Given the description of an element on the screen output the (x, y) to click on. 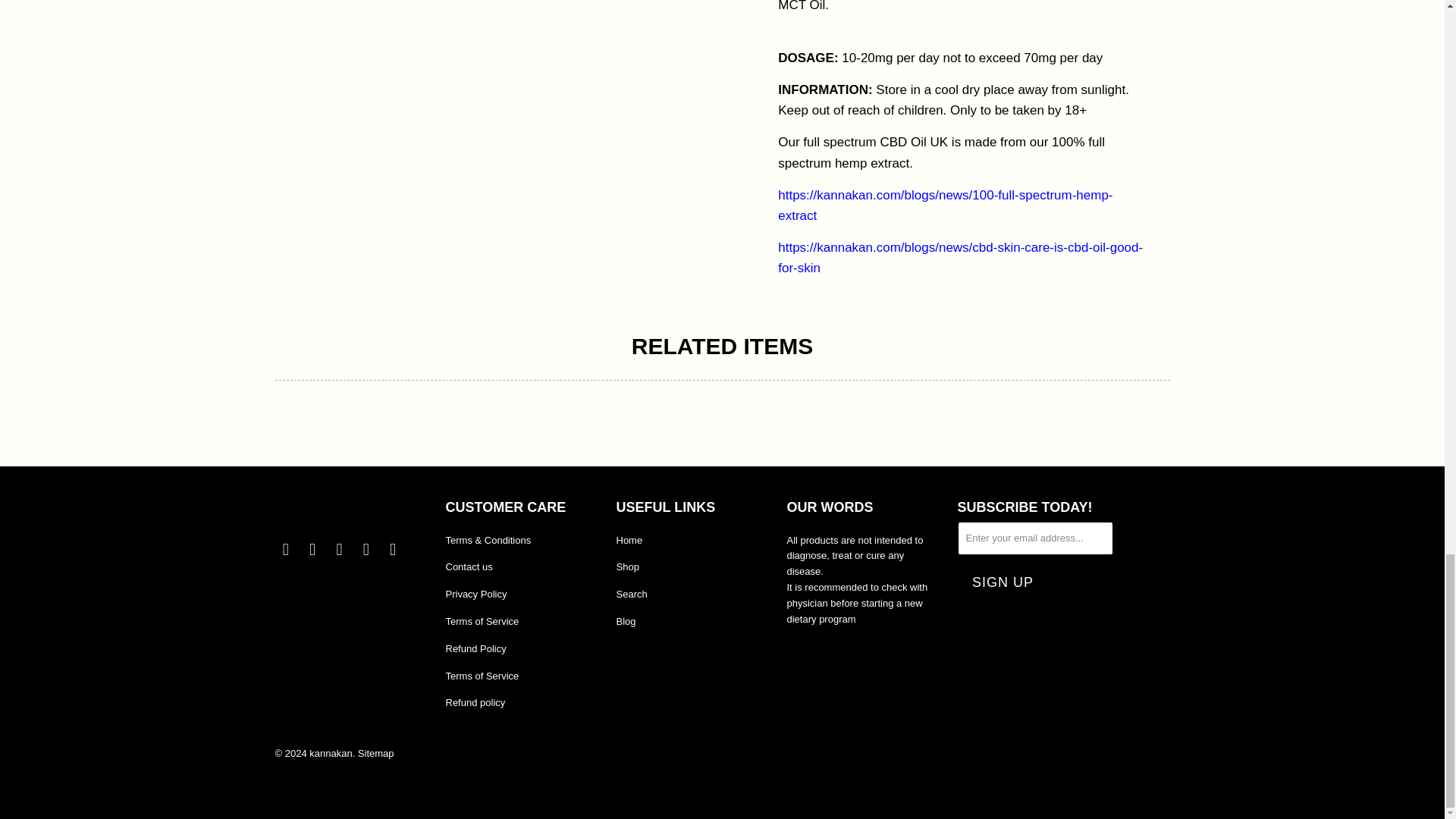
Sign Up (1002, 582)
kannakan on Instagram (366, 549)
kannakan on Facebook (312, 549)
Is CBD oil good for the skin  (959, 257)
kannakan on Twitter (286, 549)
kannakan on YouTube (339, 549)
Email kannakan (392, 549)
